Given the description of an element on the screen output the (x, y) to click on. 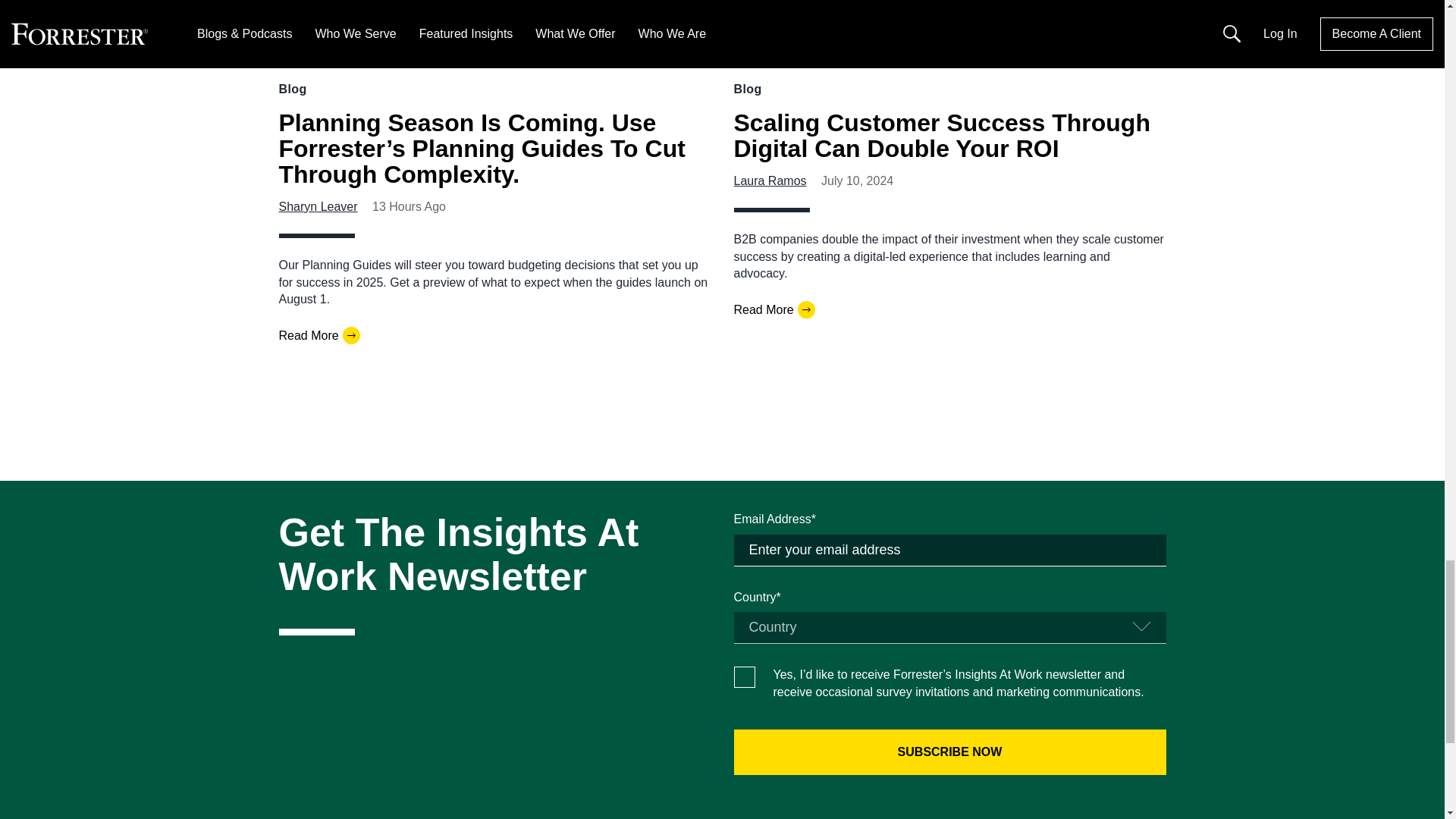
Sharyn Leaver (318, 205)
Laura Ramos (769, 180)
Subscribe Now (949, 751)
